Given the description of an element on the screen output the (x, y) to click on. 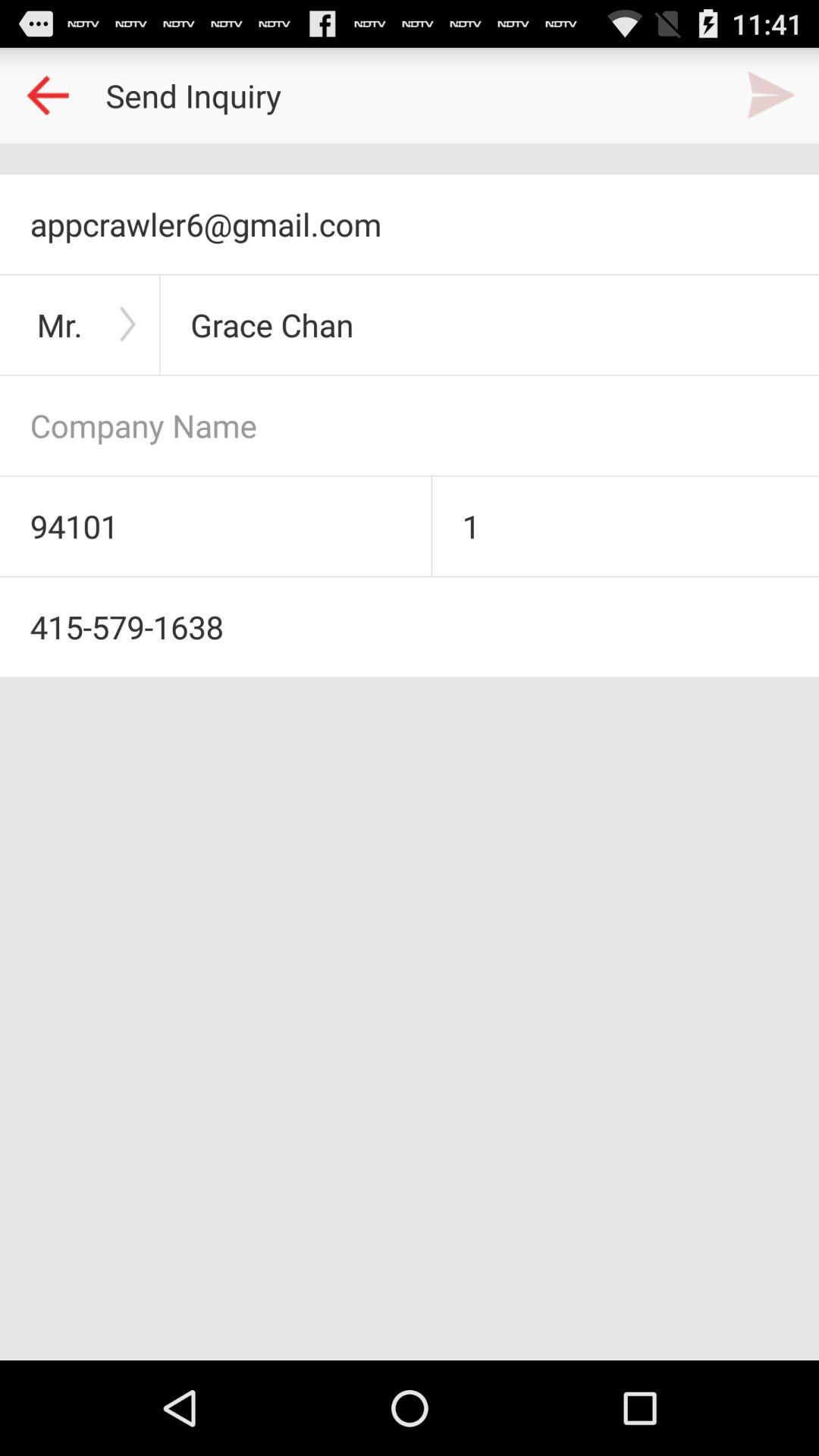
type your company name (409, 425)
